Given the description of an element on the screen output the (x, y) to click on. 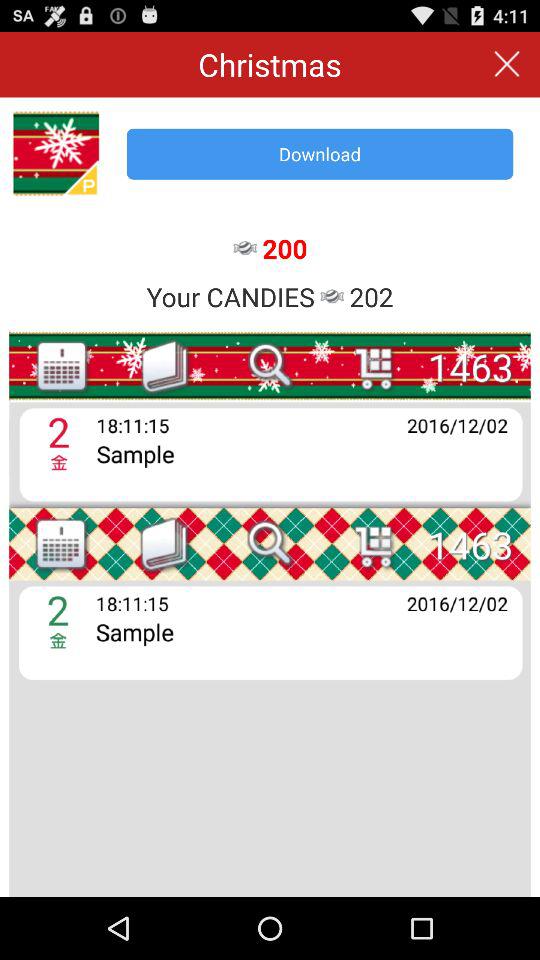
close window (506, 64)
